Given the description of an element on the screen output the (x, y) to click on. 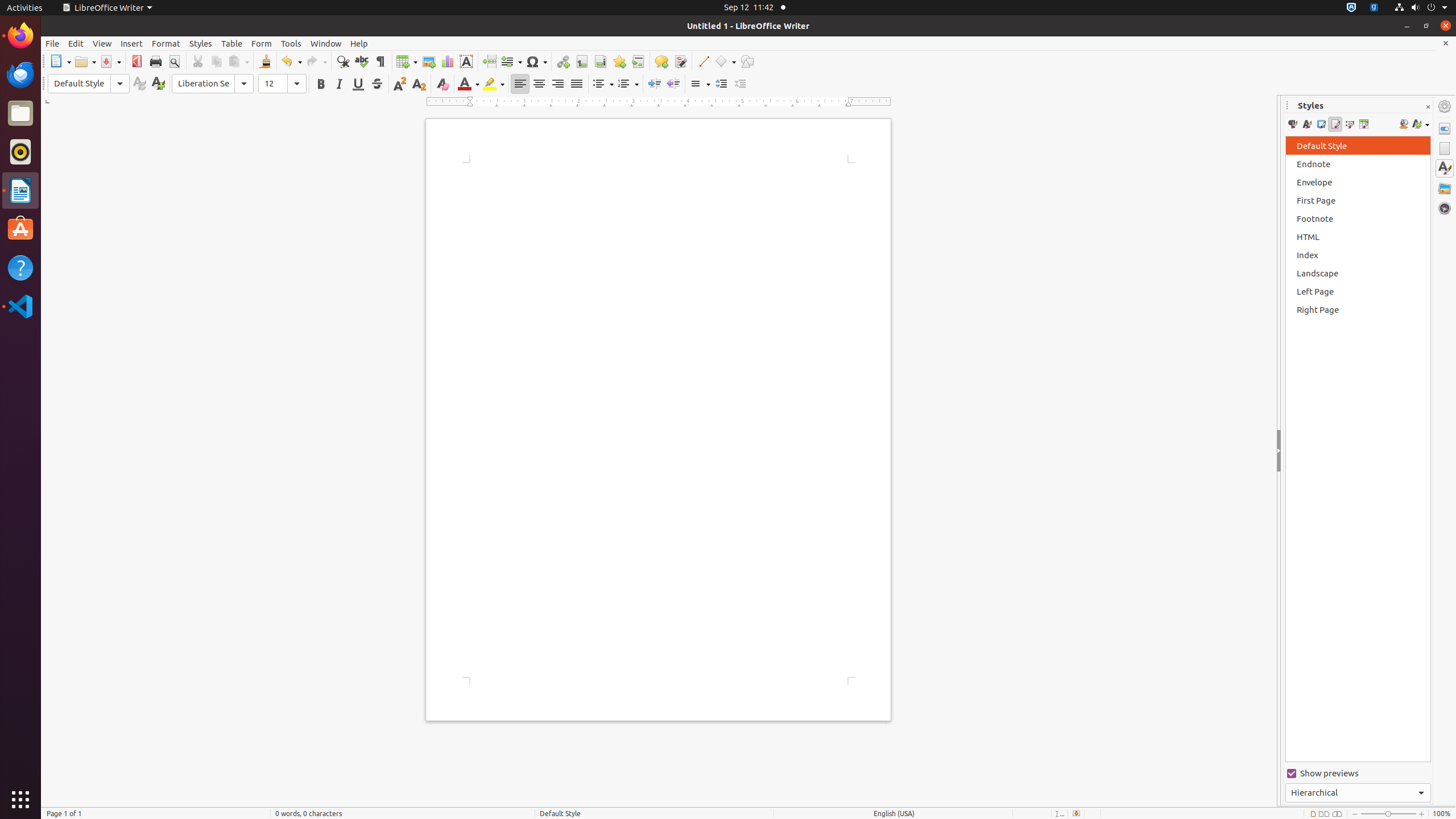
Clear Element type: push-button (441, 83)
File Element type: menu (51, 43)
Left Element type: toggle-button (519, 83)
Styles Element type: radio-button (1444, 168)
Basic Shapes Element type: push-button (724, 61)
